Given the description of an element on the screen output the (x, y) to click on. 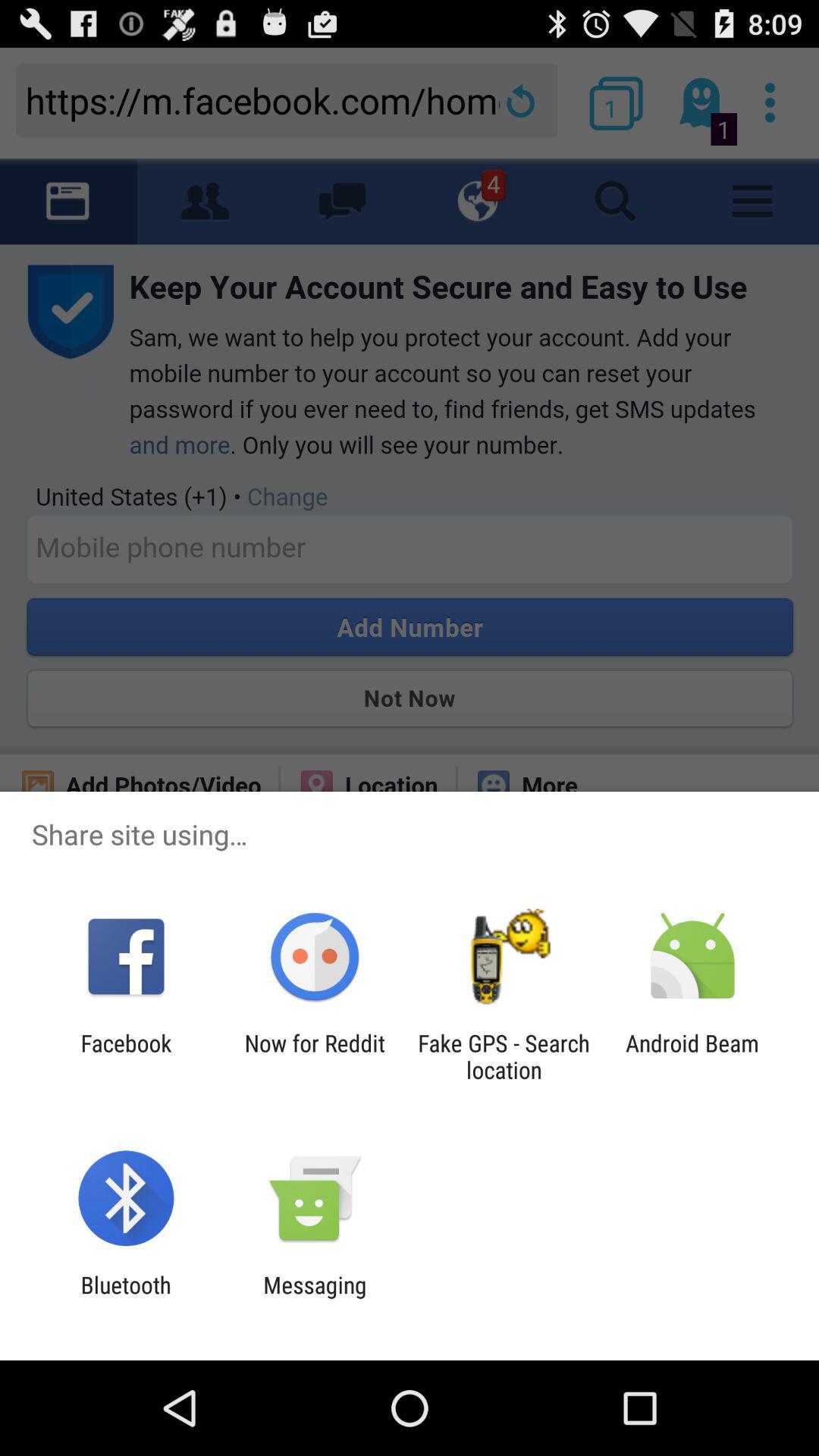
open icon next to fake gps search item (692, 1056)
